Given the description of an element on the screen output the (x, y) to click on. 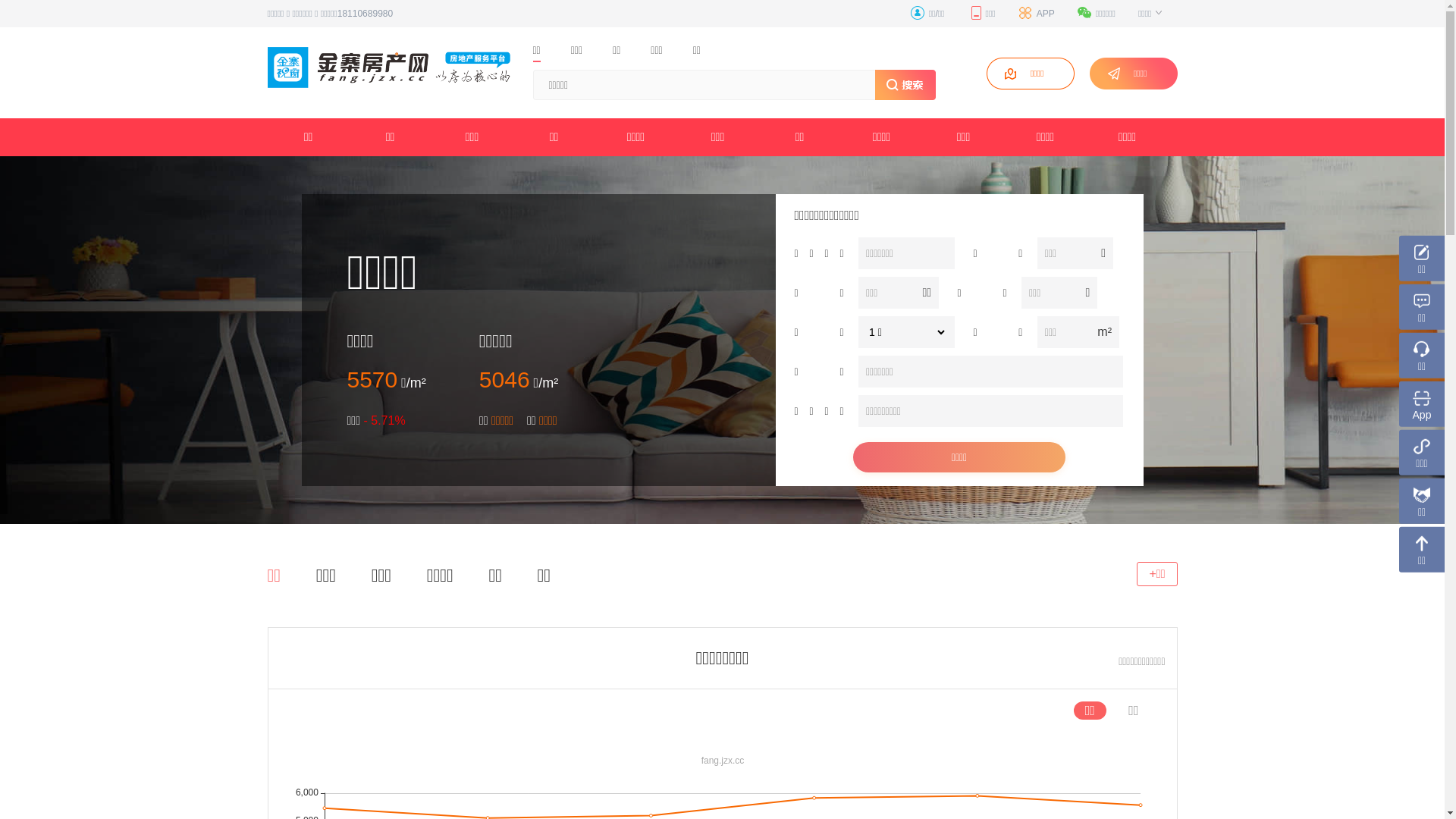
App Element type: text (1421, 403)
APP Element type: text (1036, 13)
